Given the description of an element on the screen output the (x, y) to click on. 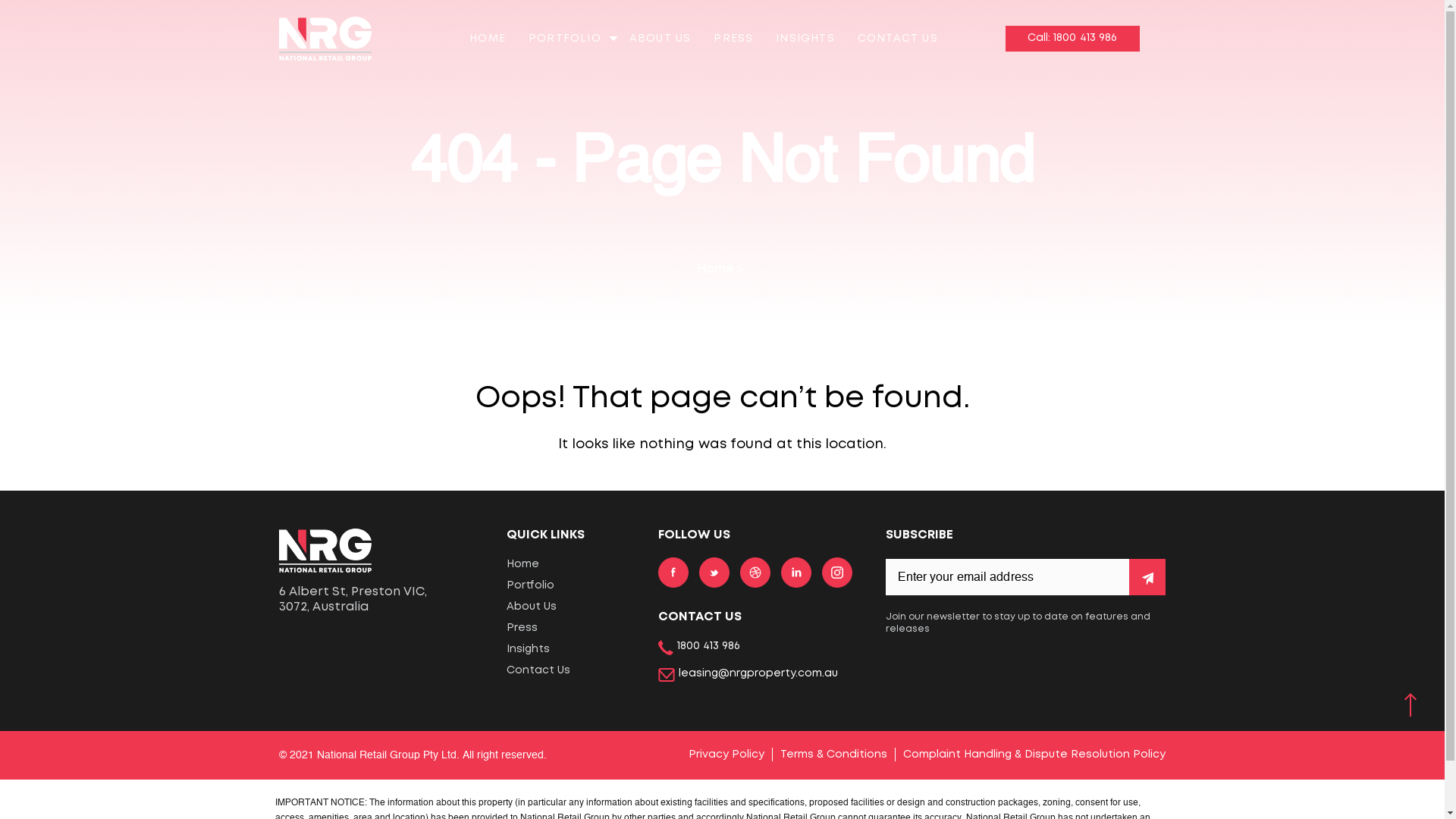
Home Element type: text (570, 564)
Privacy Policy Element type: text (726, 754)
Linked-In Element type: hover (796, 570)
Home Element type: text (721, 269)
Twitter Element type: hover (714, 570)
Instagram Element type: hover (837, 570)
Insights Element type: text (570, 648)
1800 413 986 Element type: text (699, 647)
Contact Us Element type: text (570, 670)
About Us Element type: text (570, 606)
Call: 1800 413 986 Element type: text (1072, 37)
Press Element type: text (570, 627)
Facebook Element type: hover (673, 570)
logo Element type: hover (325, 548)
Send Element type: text (1147, 576)
CONTACT US Element type: text (897, 38)
6 Albert St, Preston VIC,
3072, Australia Element type: text (381, 599)
Pinterest Element type: hover (755, 570)
Complaint Handling & Dispute Resolution Policy Element type: text (1034, 754)
PORTFOLIO Element type: text (564, 38)
ABOUT US Element type: text (660, 38)
HOME Element type: text (487, 38)
Terms & Conditions Element type: text (833, 754)
PRESS Element type: text (733, 38)
leasing@nrgproperty.com.au Element type: text (748, 673)
Portfolio Element type: text (570, 585)
INSIGHTS Element type: text (805, 38)
